Given the description of an element on the screen output the (x, y) to click on. 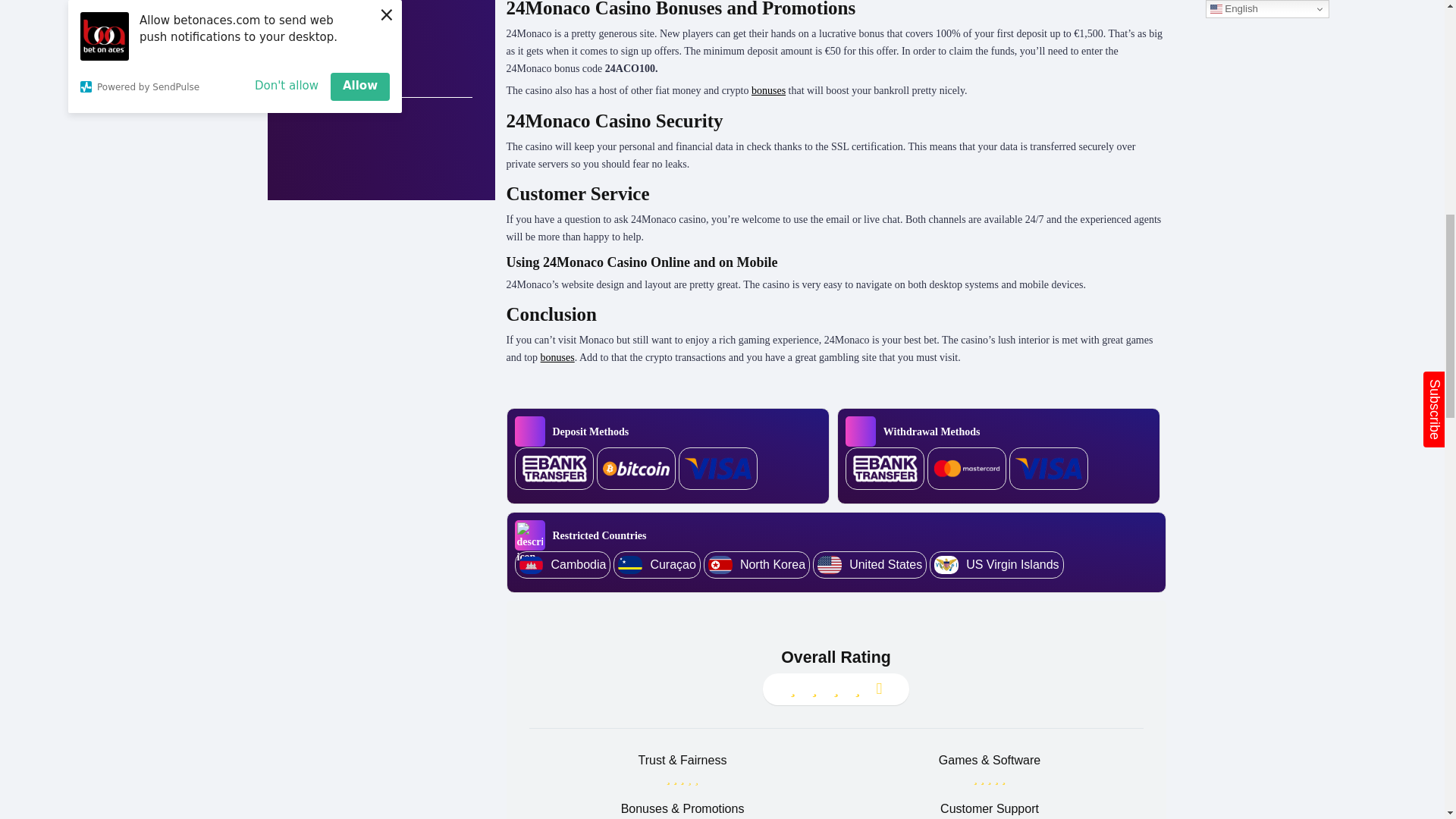
EUR (380, 7)
USD (380, 31)
